Given the description of an element on the screen output the (x, y) to click on. 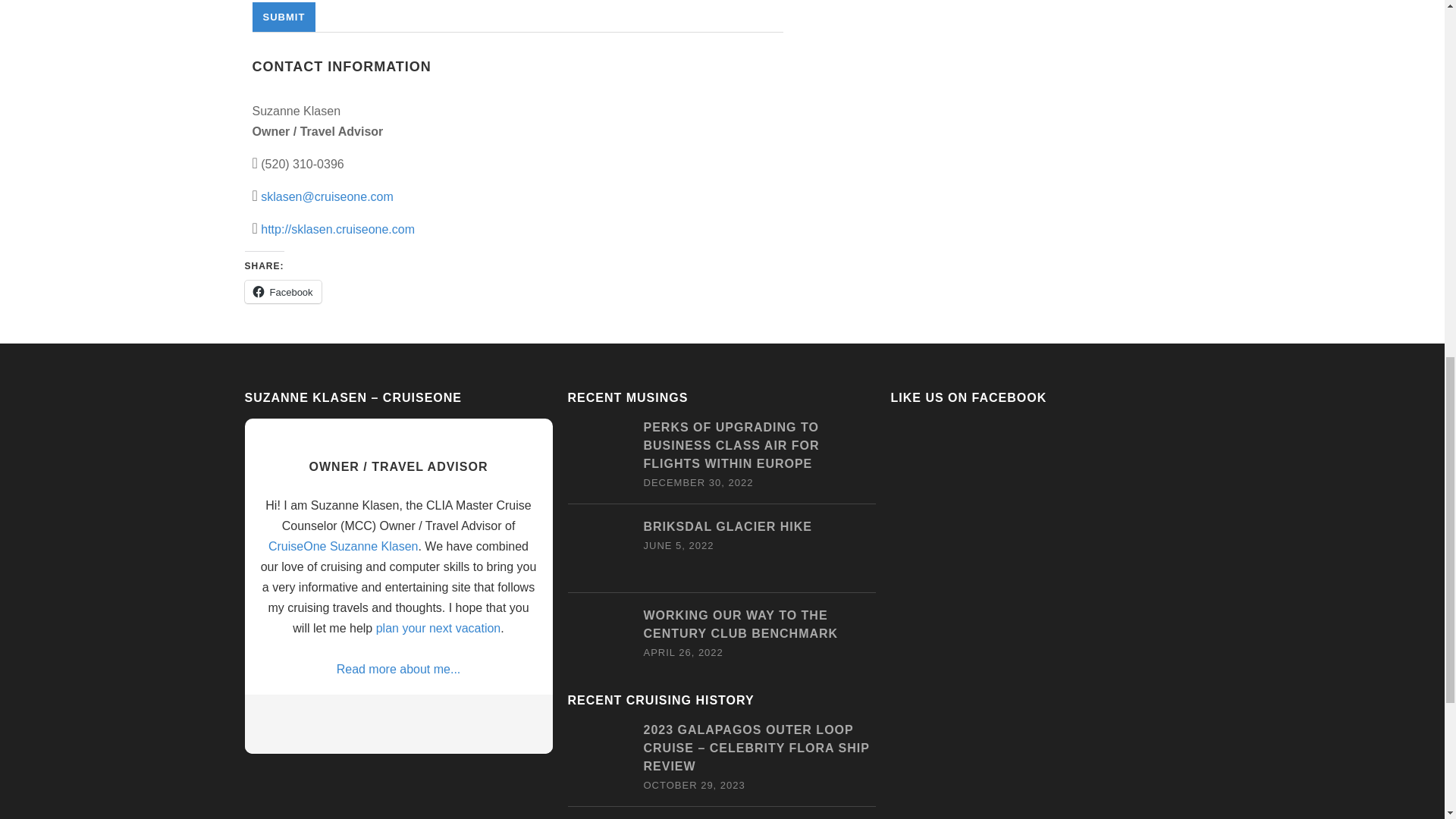
Facebook (282, 291)
Read more about me... (398, 669)
LinkedIn (396, 720)
Submit (283, 16)
Instagram (455, 720)
plan your next vacation (437, 627)
Click to share on Facebook (282, 291)
Submit (283, 16)
Facebook (366, 720)
Email (337, 720)
